Given the description of an element on the screen output the (x, y) to click on. 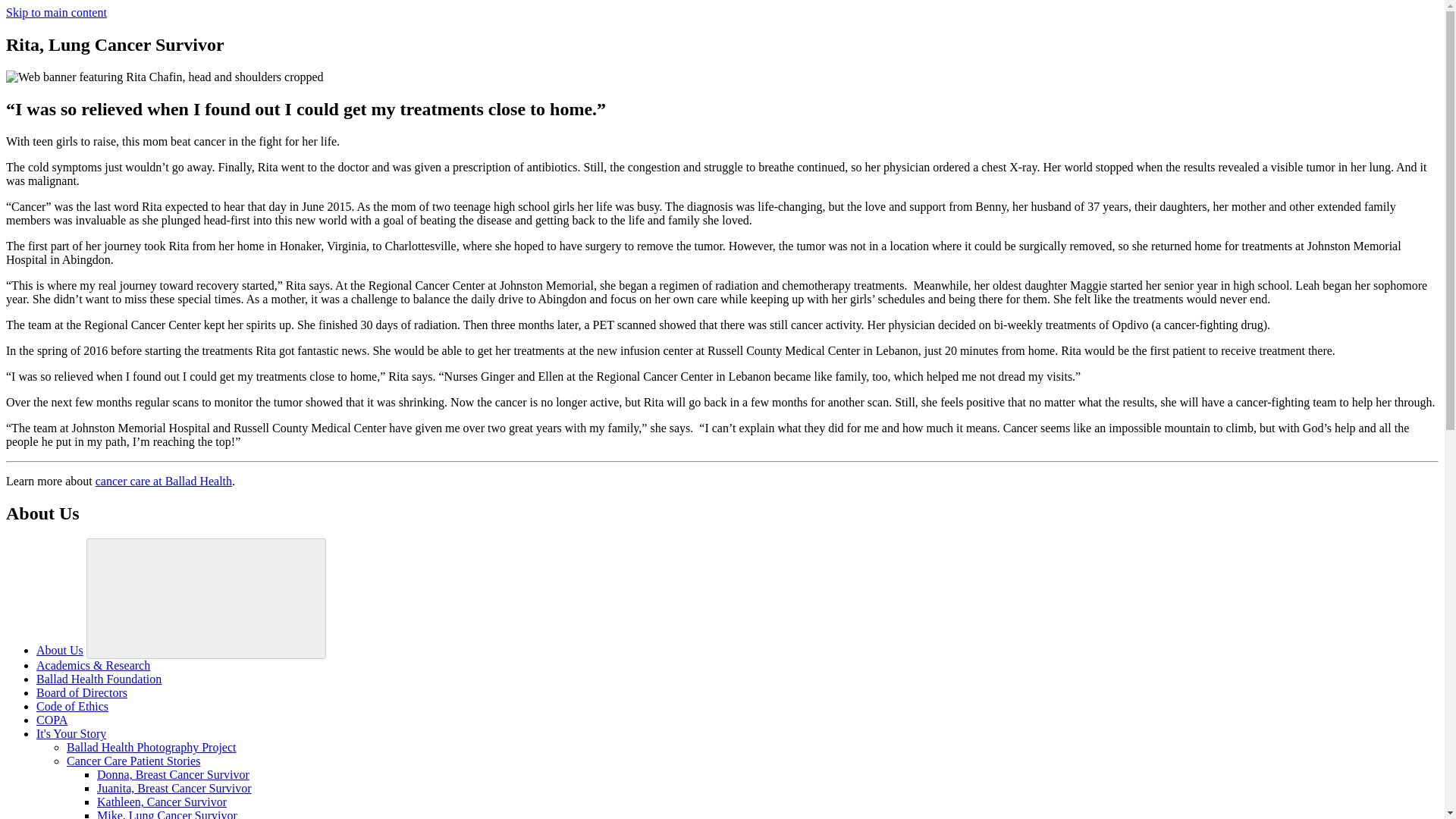
COPA (51, 719)
Cancer Care Patient Stories (133, 760)
Your browser does not support SVGs. (205, 598)
Donna, Breast Cancer Survivor (172, 774)
Mike, Lung Cancer Survivor (167, 814)
Ballad Health Photography Project (150, 747)
Ballad Health Foundation (98, 678)
Kathleen, Cancer Survivor (162, 801)
Skip to main content (55, 11)
It's Your Story (71, 733)
About Us (59, 649)
Juanita, Breast Cancer Survivor (174, 788)
Board of Directors (82, 692)
cancer care at Ballad Health (163, 481)
Code of Ethics (71, 706)
